Given the description of an element on the screen output the (x, y) to click on. 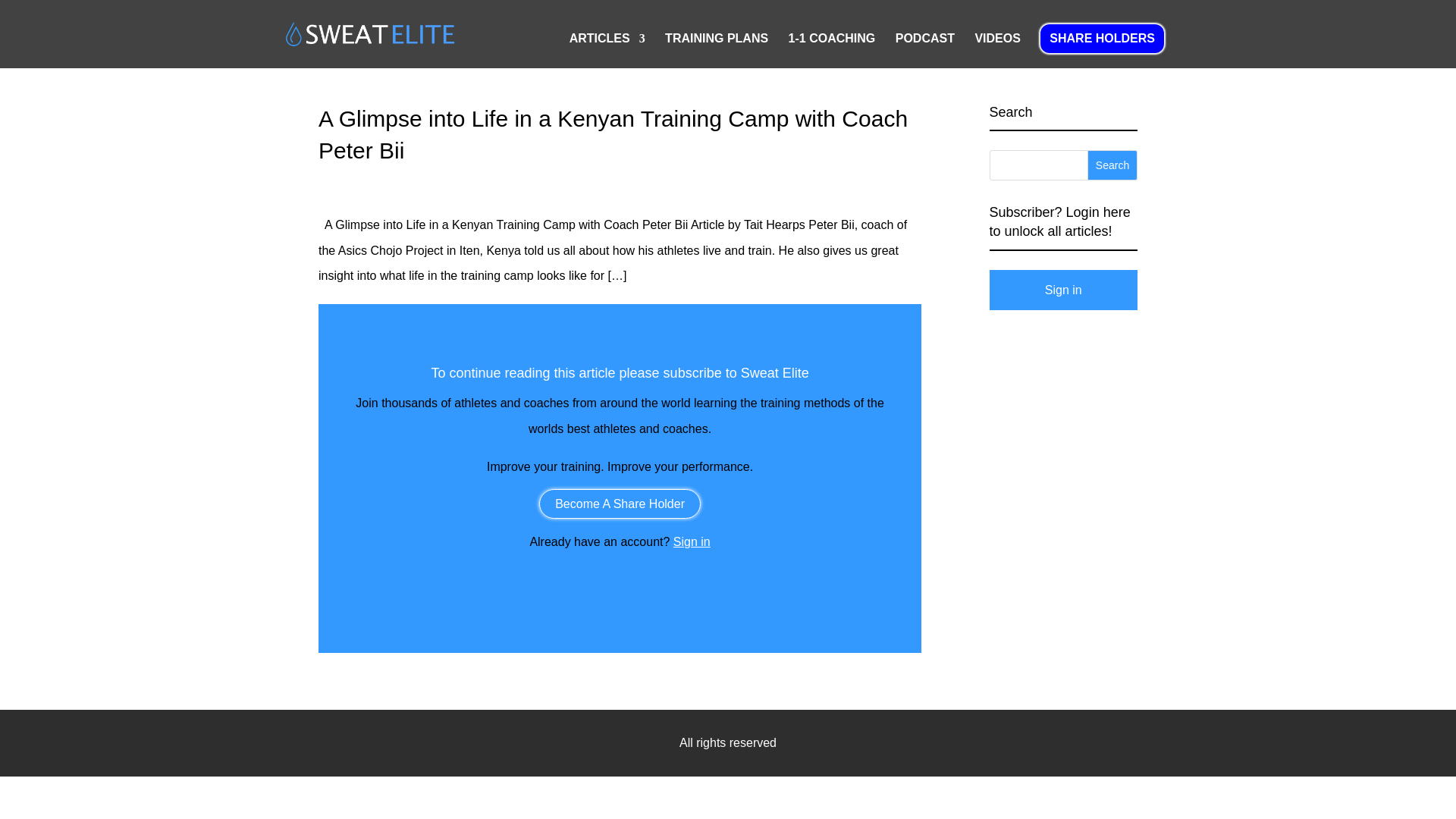
TRAINING PLANS (716, 50)
PODCAST (925, 50)
Search (1112, 164)
VIDEOS (997, 50)
1-1 COACHING (832, 50)
SHARE HOLDERS (1102, 38)
ARTICLES (607, 50)
